Given the description of an element on the screen output the (x, y) to click on. 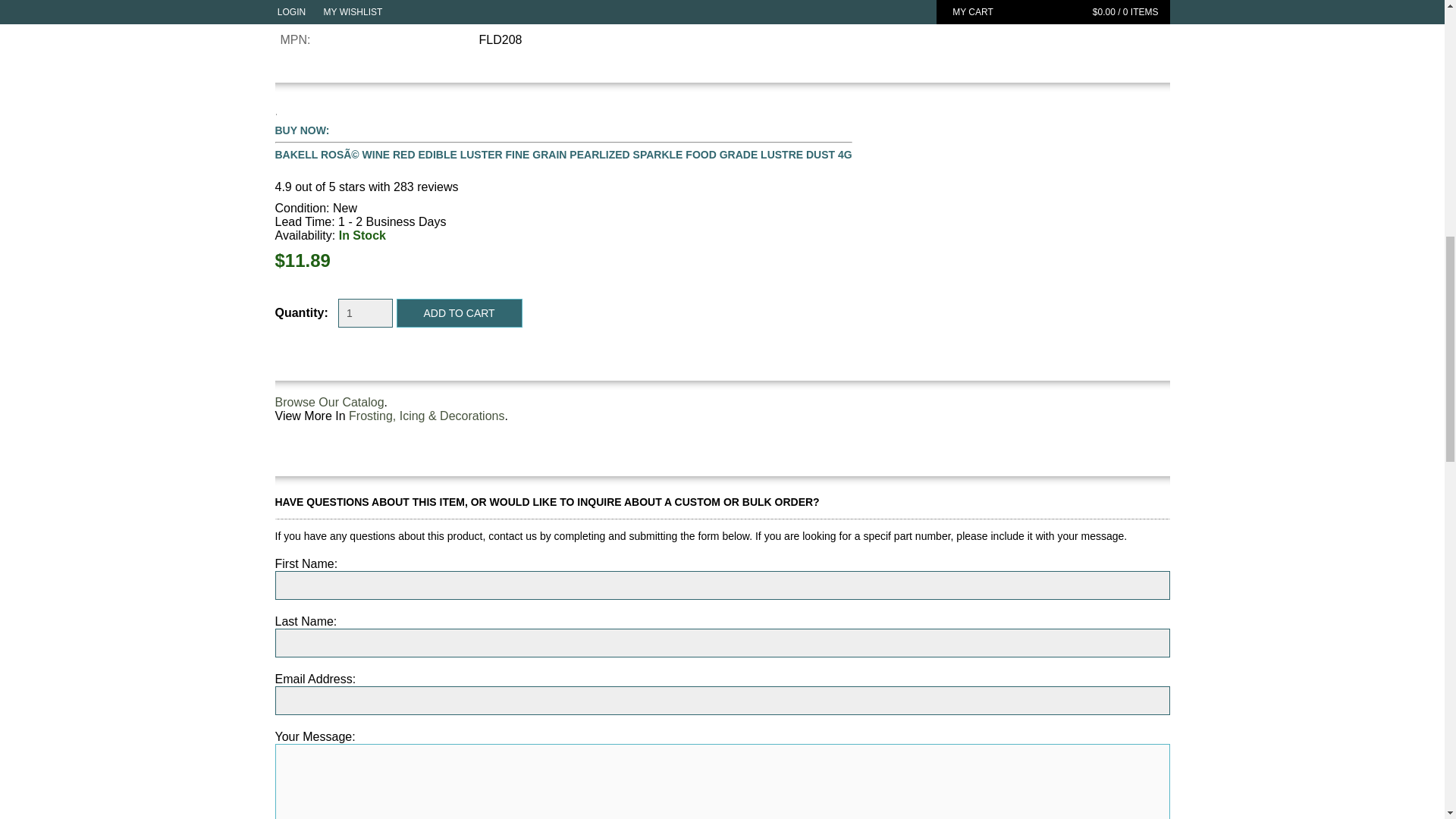
1 (365, 312)
Browse Our Catalog (329, 401)
ADD TO CART (459, 312)
